Given the description of an element on the screen output the (x, y) to click on. 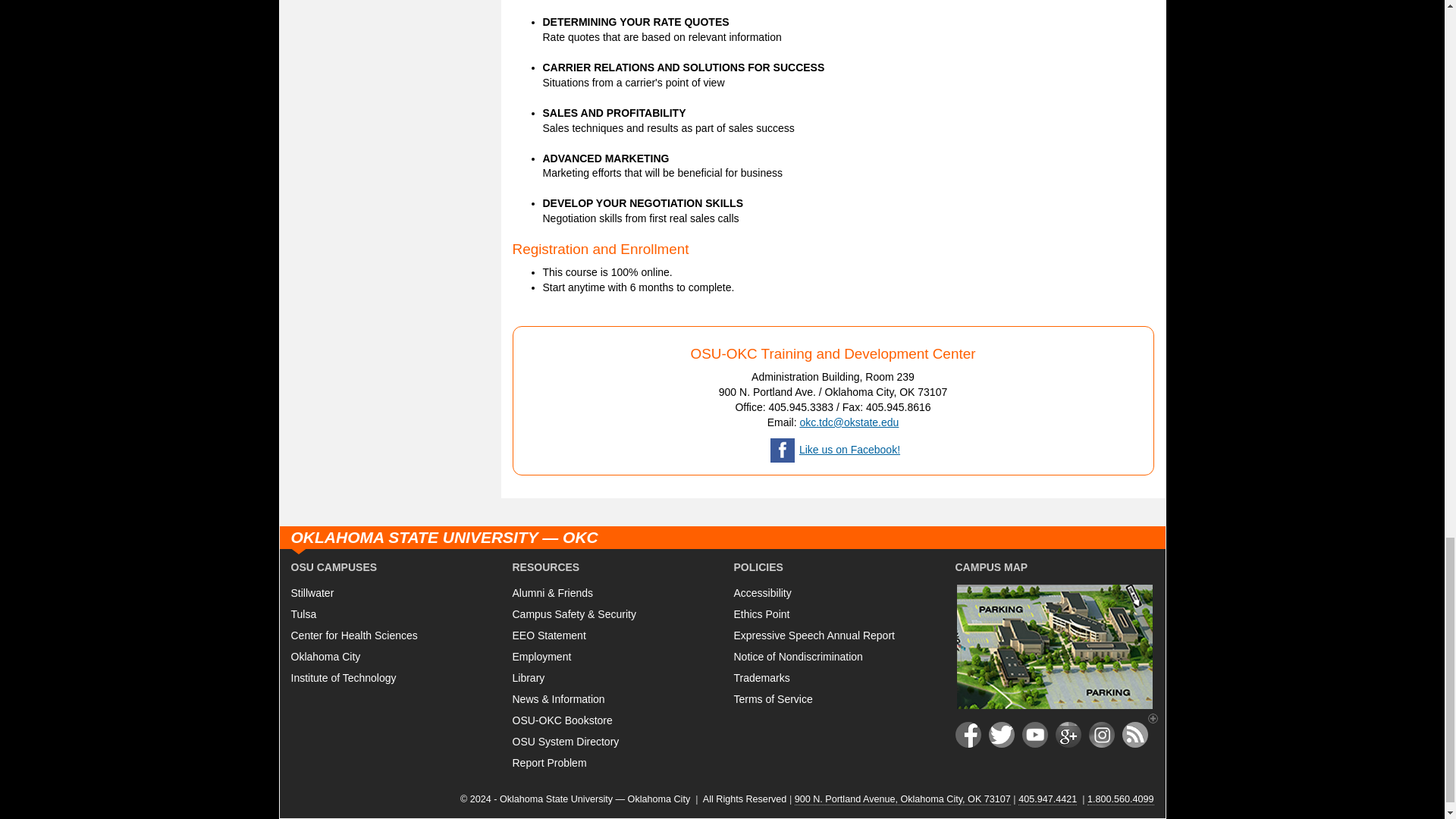
Get Directions to OSU-OKC Campus (902, 799)
Click to call (1047, 799)
Click to dial toll-free (1120, 799)
